Given the description of an element on the screen output the (x, y) to click on. 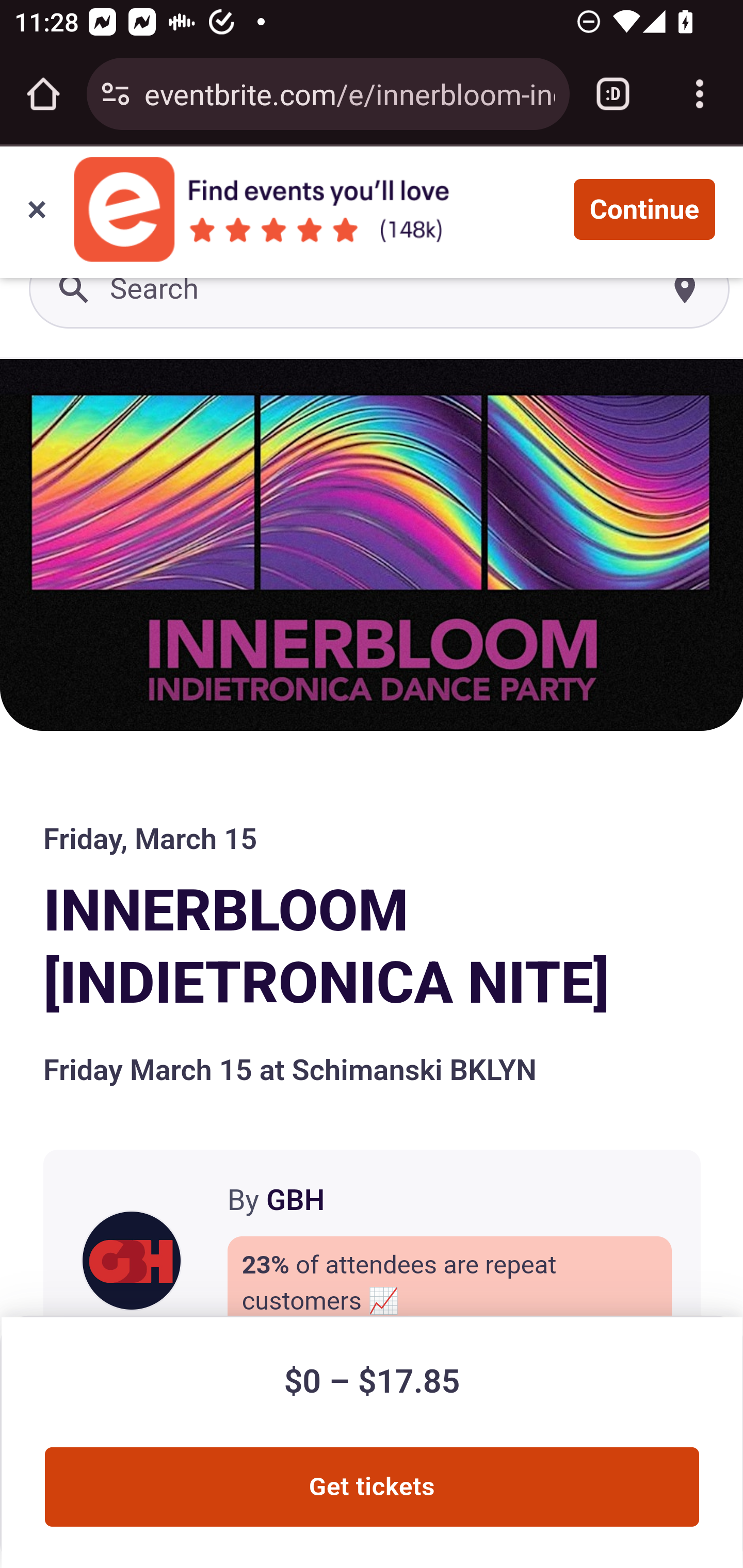
Open the home page (43, 93)
Connection is secure (115, 93)
Switch or close tabs (612, 93)
Customize and control Google Chrome (699, 93)
Home Eventbrite (50, 198)
Search (379, 289)
Follow (416, 1282)
